Given the description of an element on the screen output the (x, y) to click on. 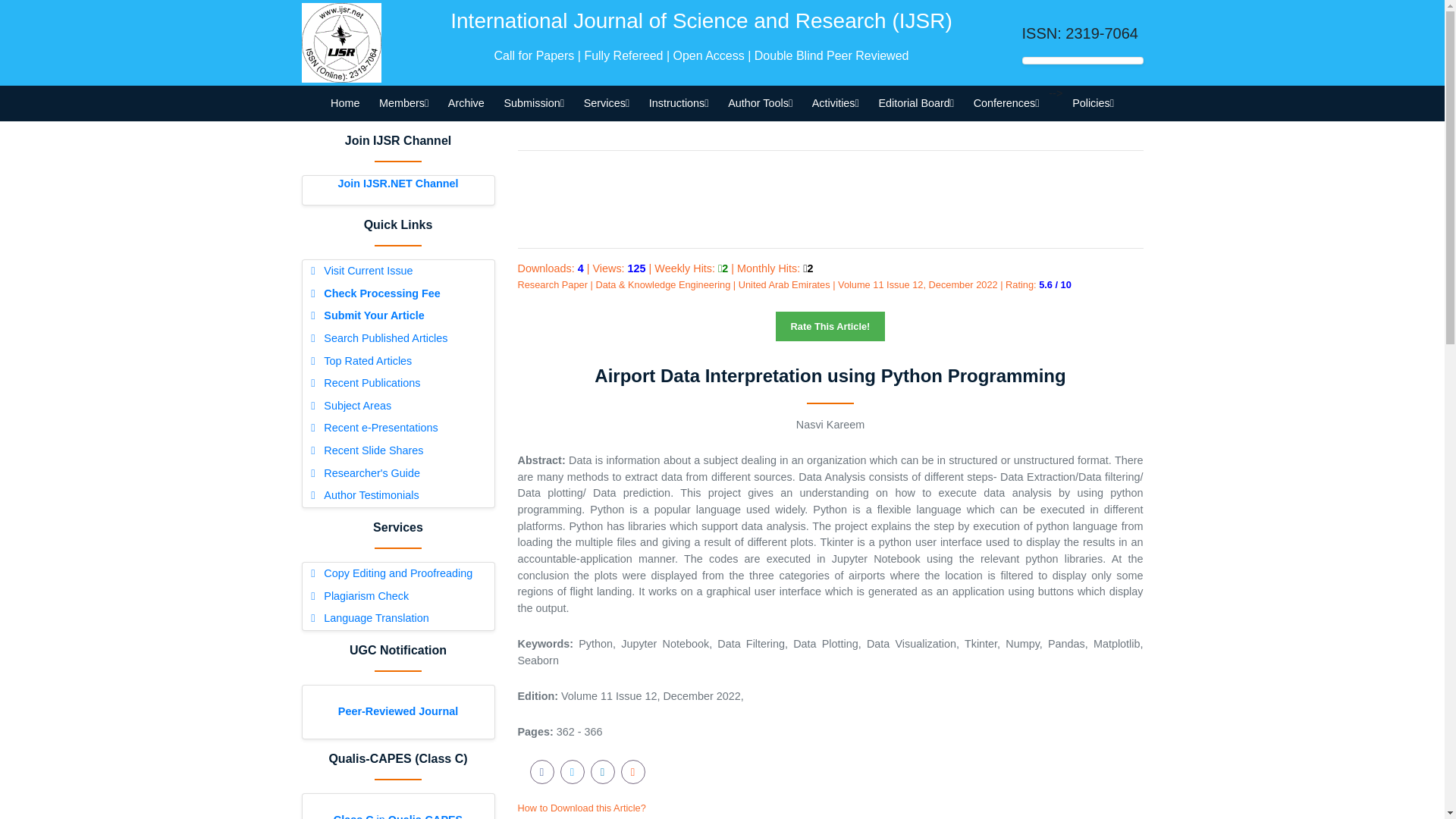
Members (403, 103)
Archive (466, 103)
Submission (534, 103)
Archive (466, 103)
Home (344, 103)
Activities (835, 103)
Home (344, 103)
Services (606, 103)
Instructions (678, 103)
Author Tools (759, 103)
